Given the description of an element on the screen output the (x, y) to click on. 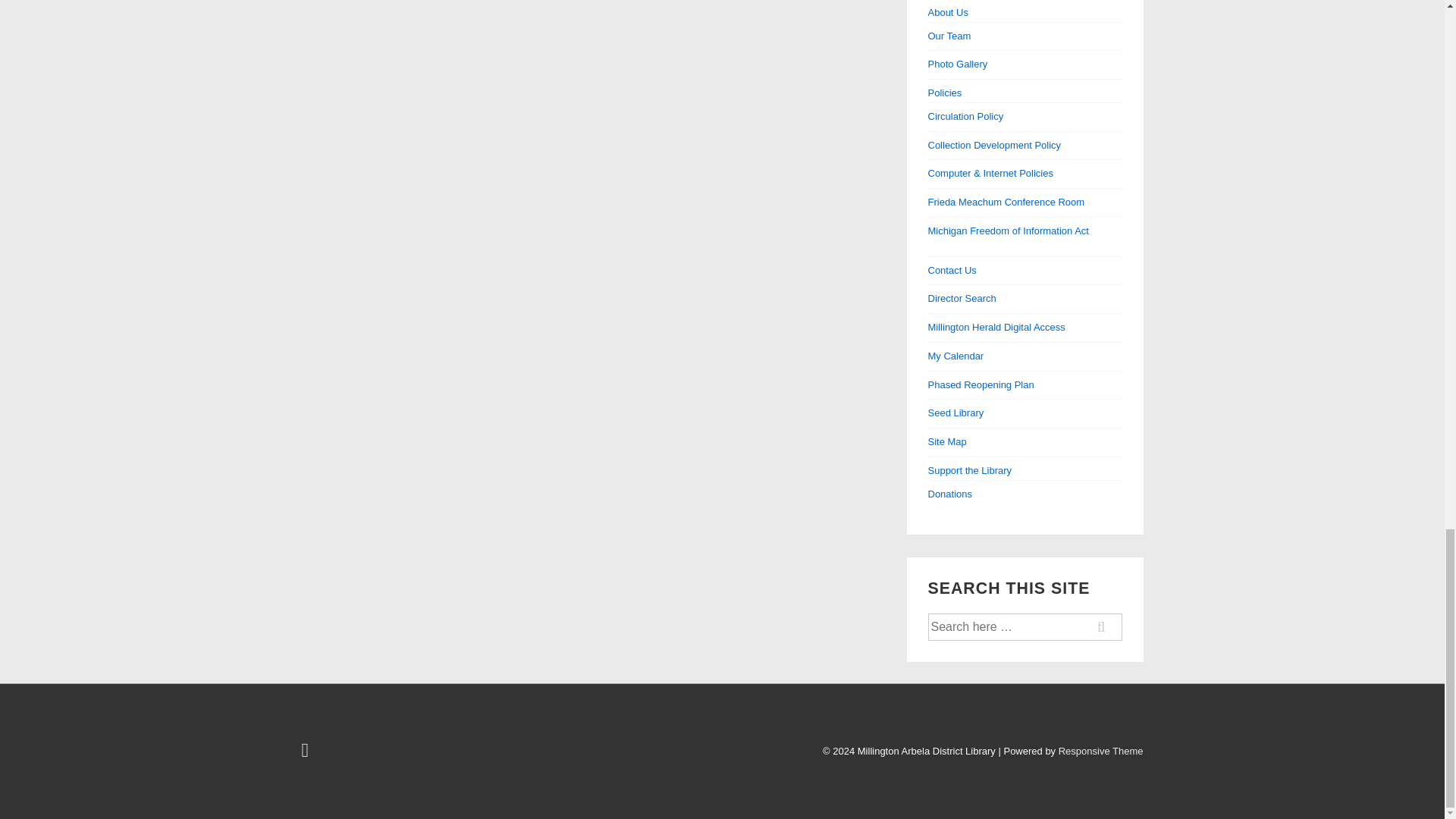
Our Team (949, 35)
About Us (1025, 13)
facebook (307, 753)
Photo Gallery (958, 63)
Circulation Policy (966, 116)
Policies (1025, 93)
